Given the description of an element on the screen output the (x, y) to click on. 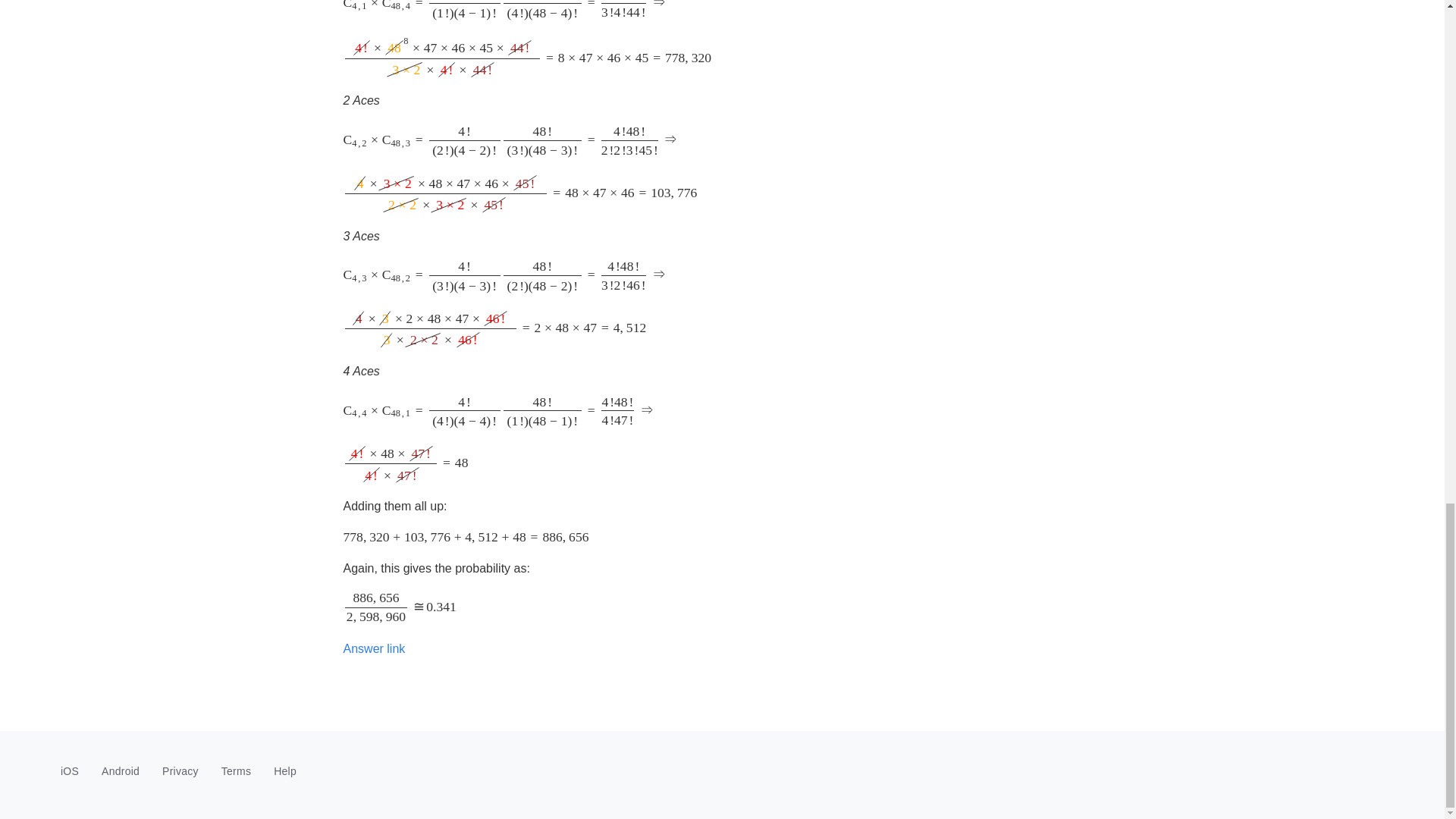
Answer link (373, 648)
